Given the description of an element on the screen output the (x, y) to click on. 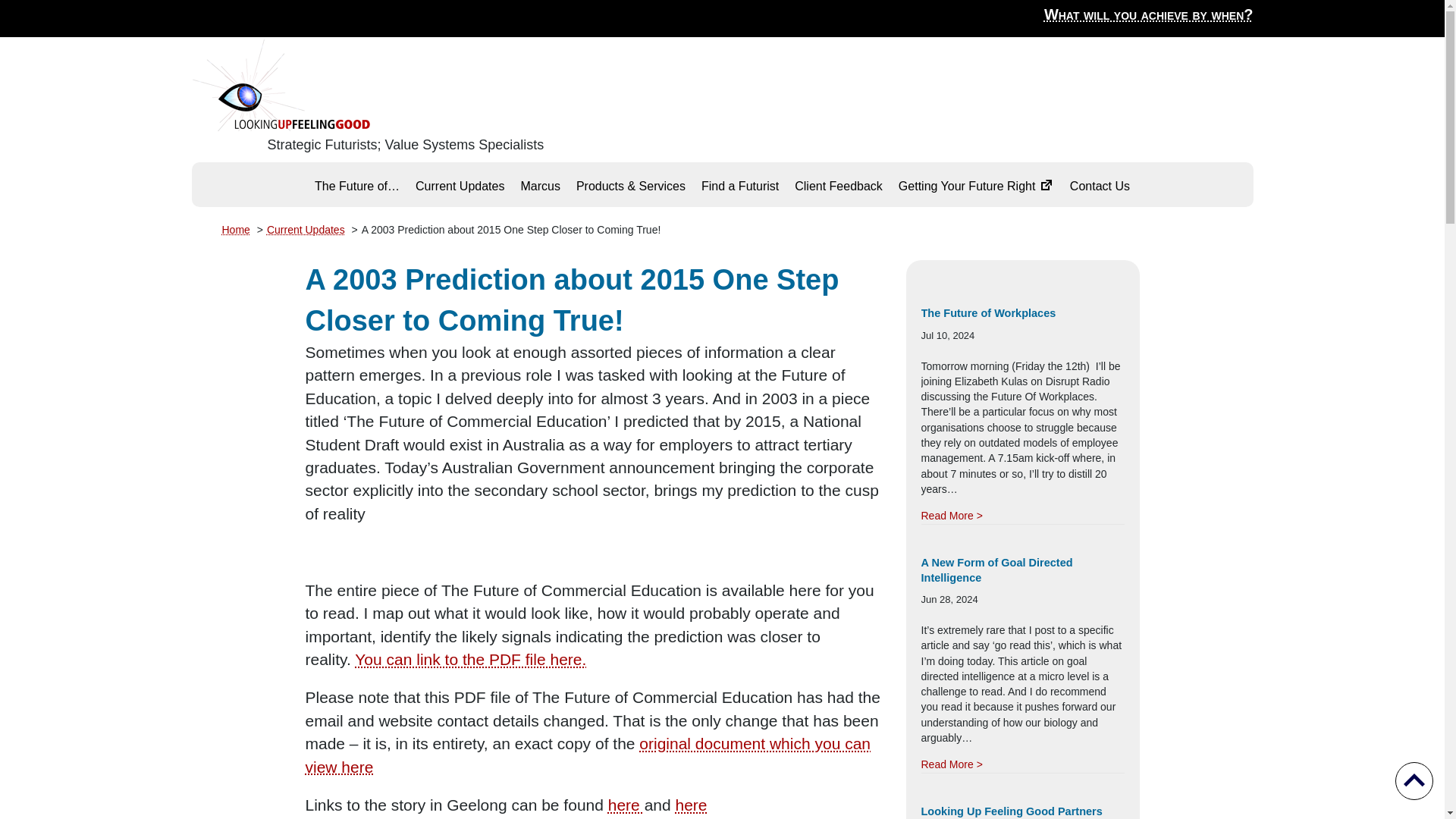
Looking Up Feeling Good Partners with Steel Chicks (1011, 812)
here (626, 805)
What will you achieve by when? (1148, 13)
original document which you can view here (587, 754)
Current Updates (459, 186)
here (691, 805)
The Future of Workplaces (950, 515)
Contact Us (1099, 186)
A New Form of Goal Directed Intelligence (995, 569)
Looking Up Feeling Good Partners with Steel Chicks (1011, 812)
Marcus (539, 186)
The Future of Workplaces (987, 313)
Current Updates (305, 229)
Find a Futurist (740, 186)
Getting Your Future Right (976, 186)
